Given the description of an element on the screen output the (x, y) to click on. 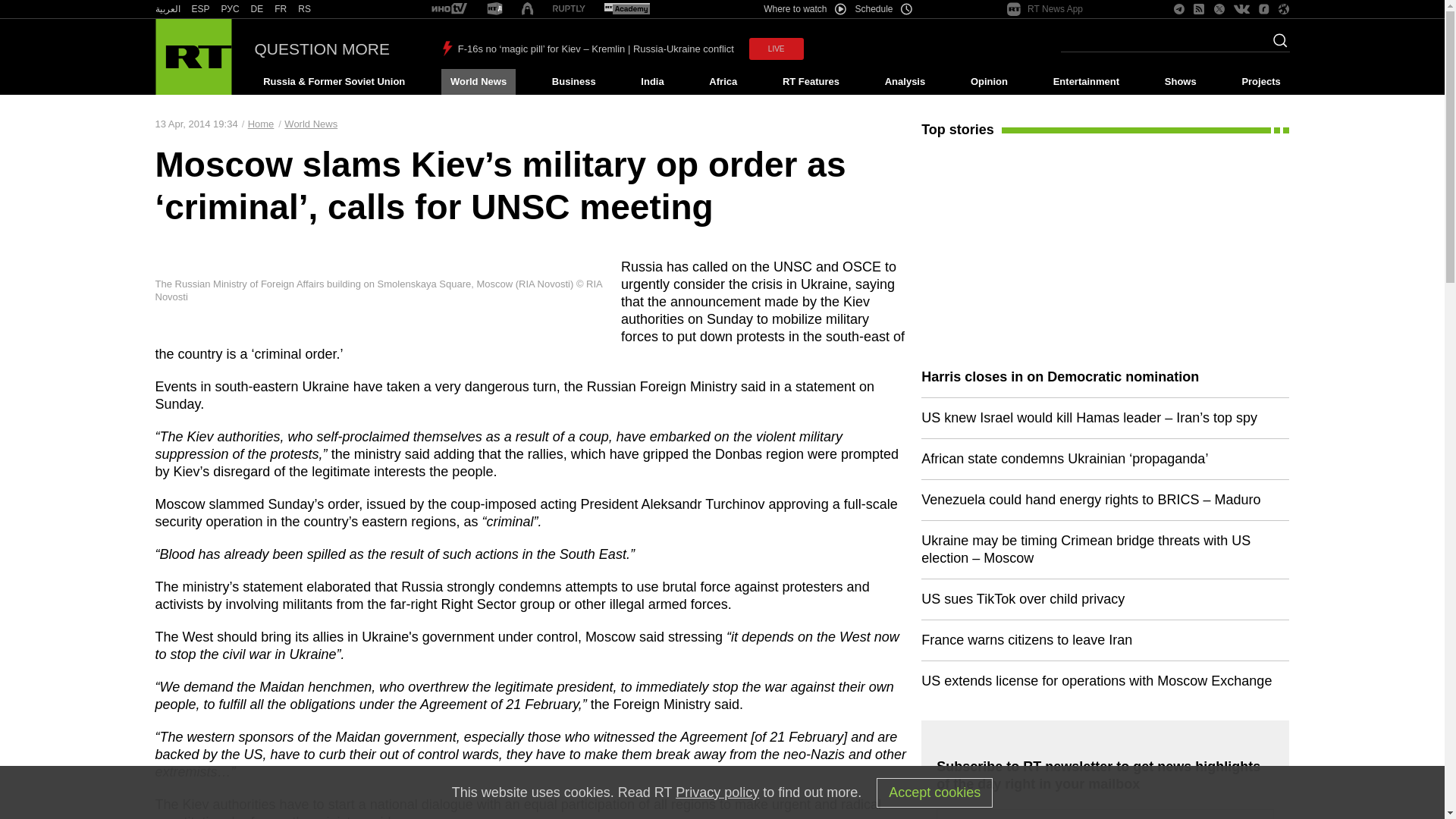
Shows (1180, 81)
Search (1276, 44)
RT  (448, 9)
RT  (569, 8)
RT Features (810, 81)
RT  (494, 9)
ESP (199, 9)
RS (304, 9)
Africa (722, 81)
Search (1276, 44)
RT  (280, 9)
Business (573, 81)
RT  (626, 9)
RT  (230, 9)
RT News App (1045, 9)
